Given the description of an element on the screen output the (x, y) to click on. 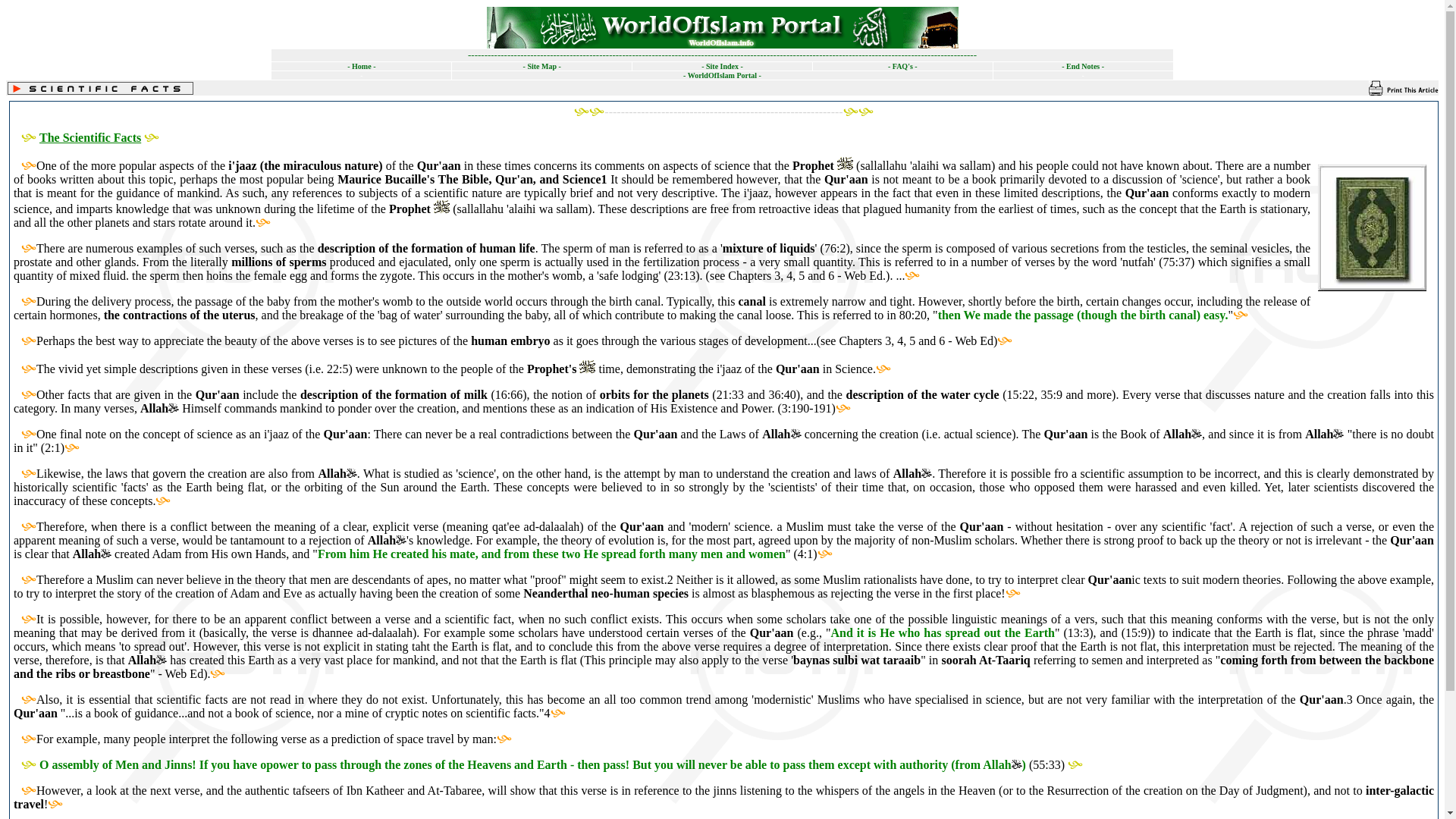
Site Index (722, 66)
 S I T E M A P  (541, 66)
FAQ's (902, 64)
WorldOfIslam Portal (722, 75)
End Notes (1082, 64)
Home (361, 66)
 H o m e  (361, 66)
 F A Q ' s  (902, 64)
Site Map (541, 66)
 S i t e   I n d e x  (722, 66)
